Given the description of an element on the screen output the (x, y) to click on. 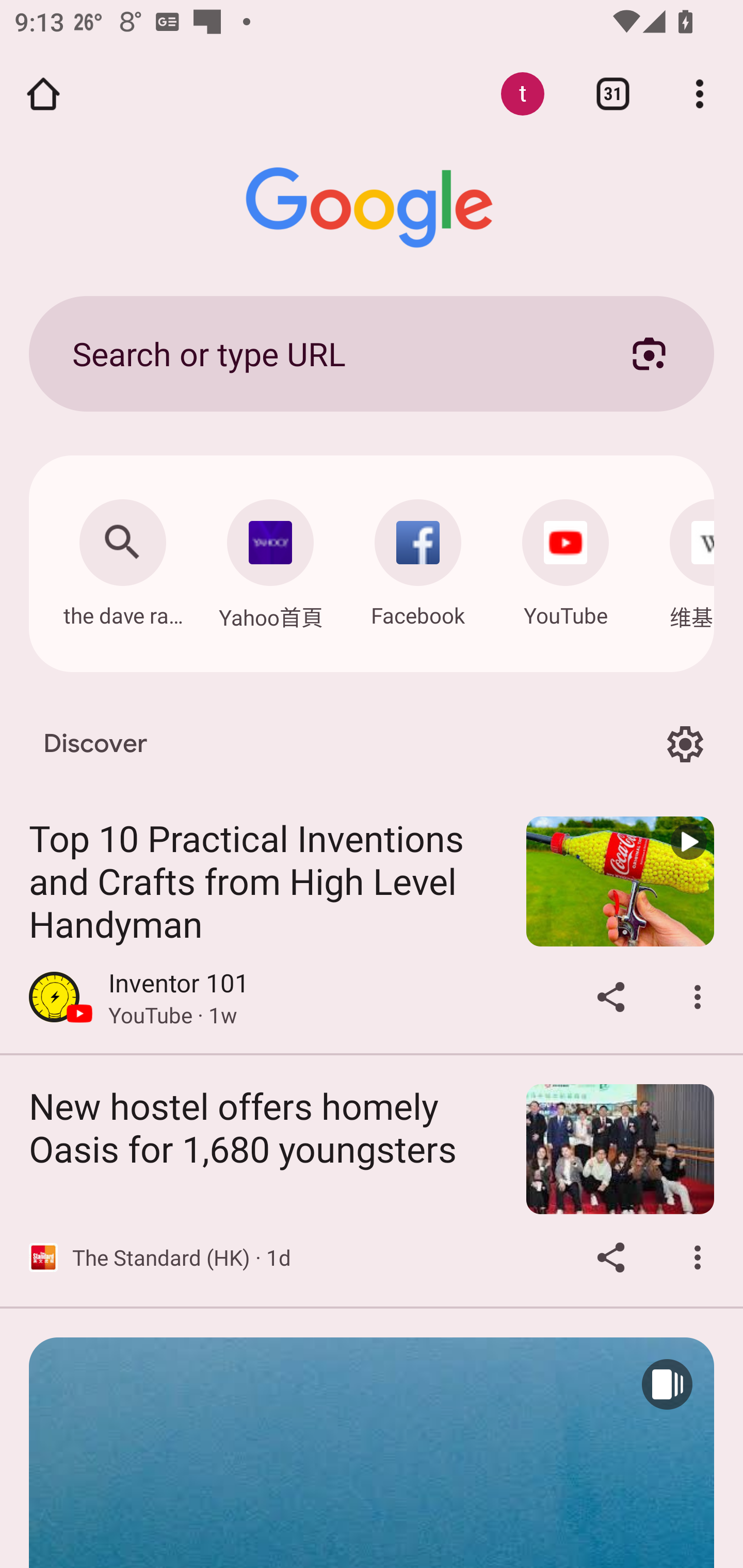
Open the home page (43, 93)
Switch or close tabs (612, 93)
Customize and control Google Chrome (699, 93)
Search or type URL (327, 353)
Search with your camera using Google Lens (648, 353)
Search: the dave ramsey show the dave ramsey show (122, 558)
Navigate: Yahoo首頁: hk.mobi.yahoo.com Yahoo首頁 (270, 558)
Navigate: Facebook: m.facebook.com Facebook (417, 558)
Navigate: YouTube: m.youtube.com YouTube (565, 558)
Options for Discover (684, 743)
